Given the description of an element on the screen output the (x, y) to click on. 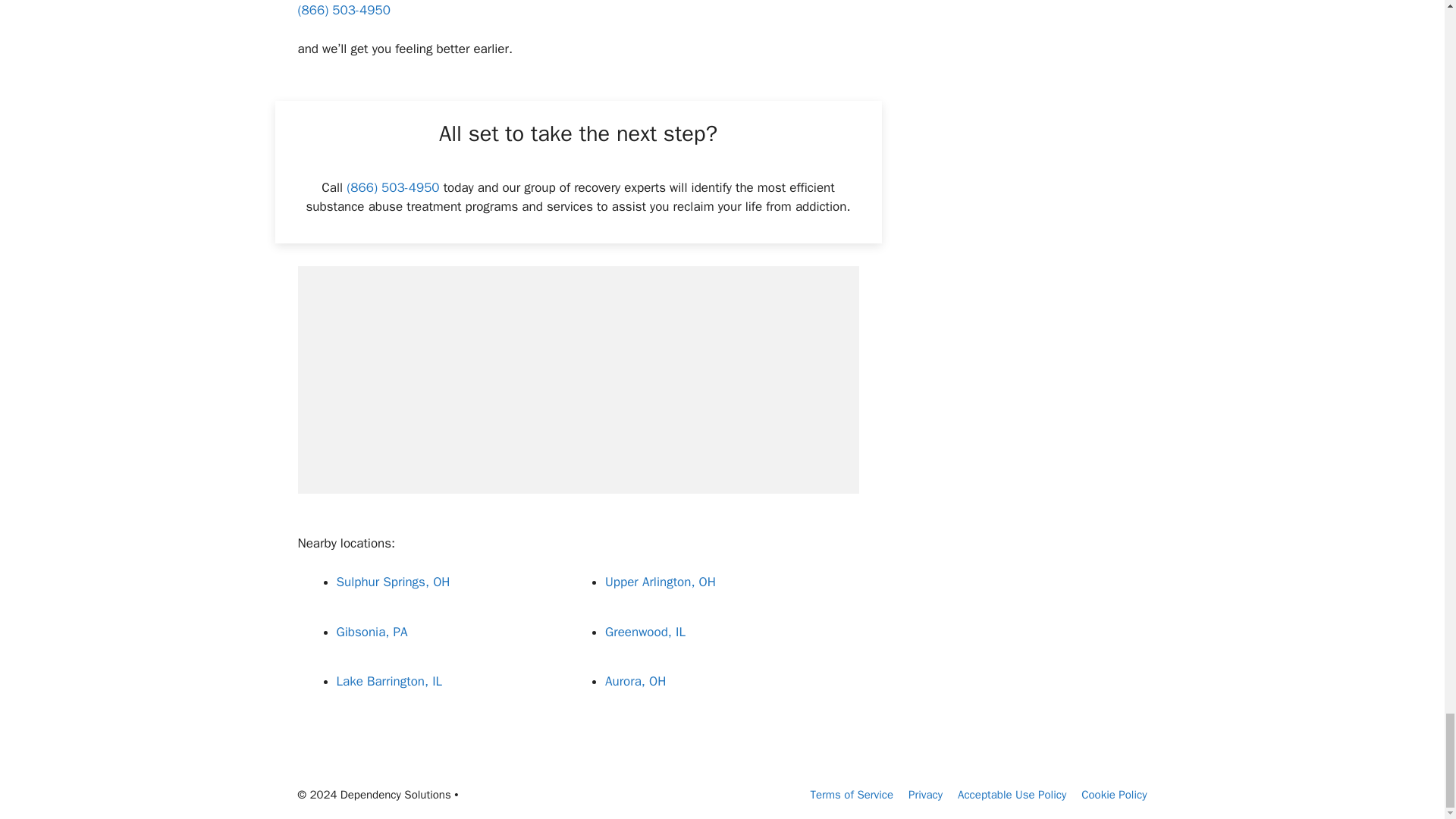
Sulphur Springs, OH (392, 581)
Gibsonia, PA (371, 631)
Greenwood, IL (645, 631)
Aurora, OH (635, 681)
Aurora, OH (635, 681)
Lake Barrington, IL (389, 681)
Gibsonia, PA (371, 631)
Cookie Policy (1114, 794)
Privacy (925, 794)
Upper Arlington, OH (660, 581)
